Given the description of an element on the screen output the (x, y) to click on. 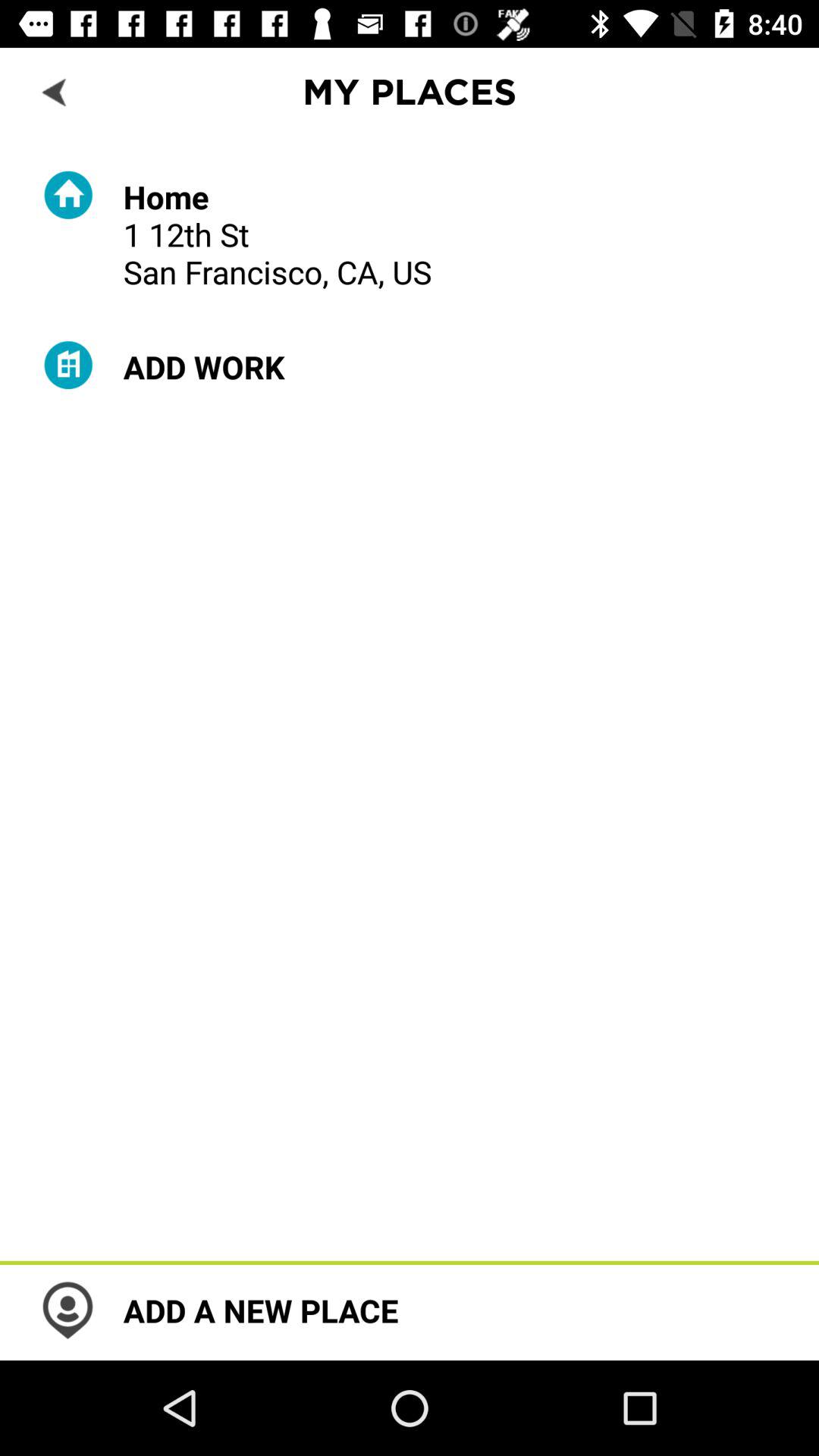
swipe to add work item (203, 366)
